Given the description of an element on the screen output the (x, y) to click on. 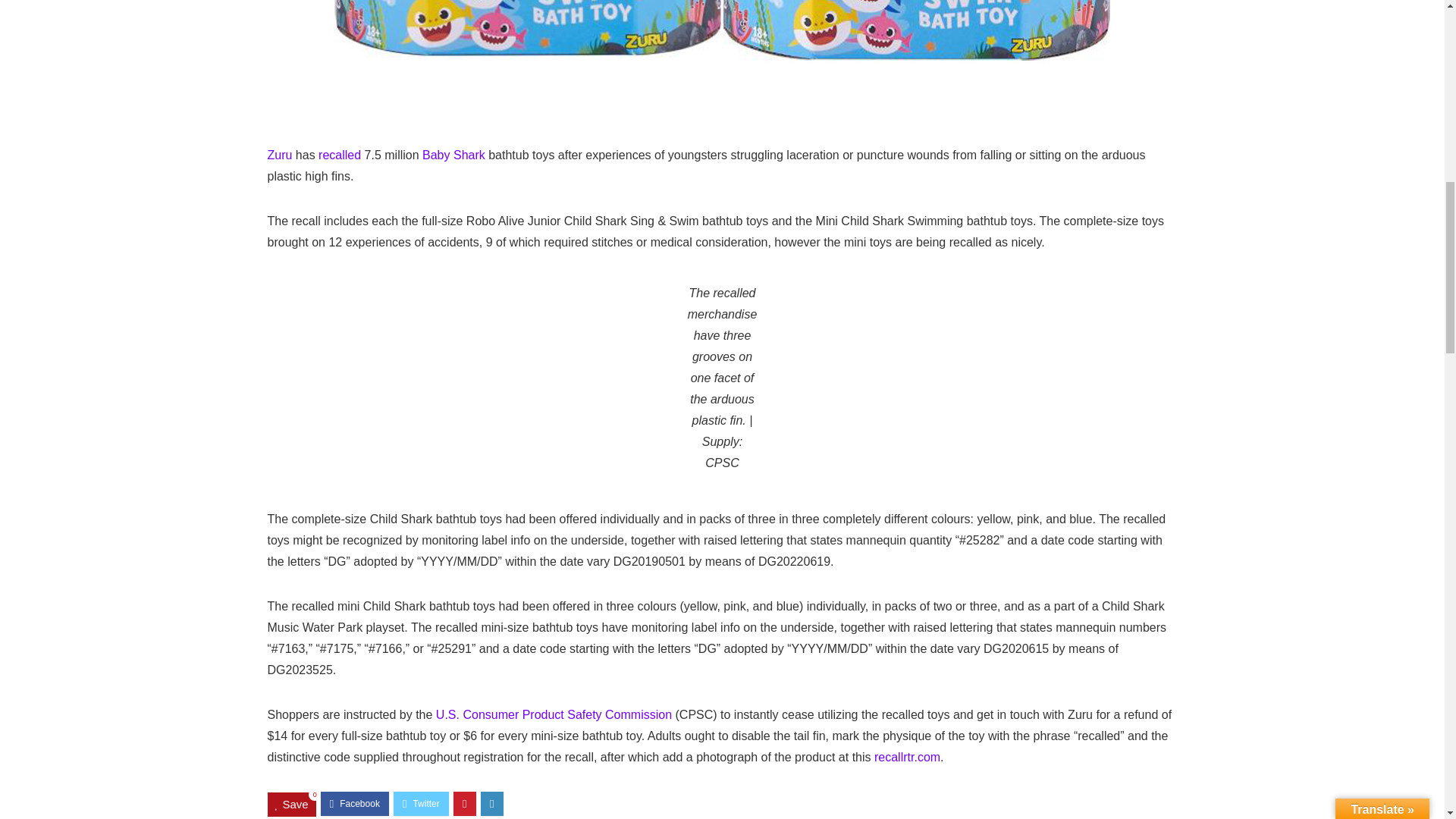
Zuru (279, 154)
recallrtr.com (907, 757)
recalled (339, 154)
U.S. Consumer Product Safety Commission (553, 714)
Baby Shark (453, 154)
